Given the description of an element on the screen output the (x, y) to click on. 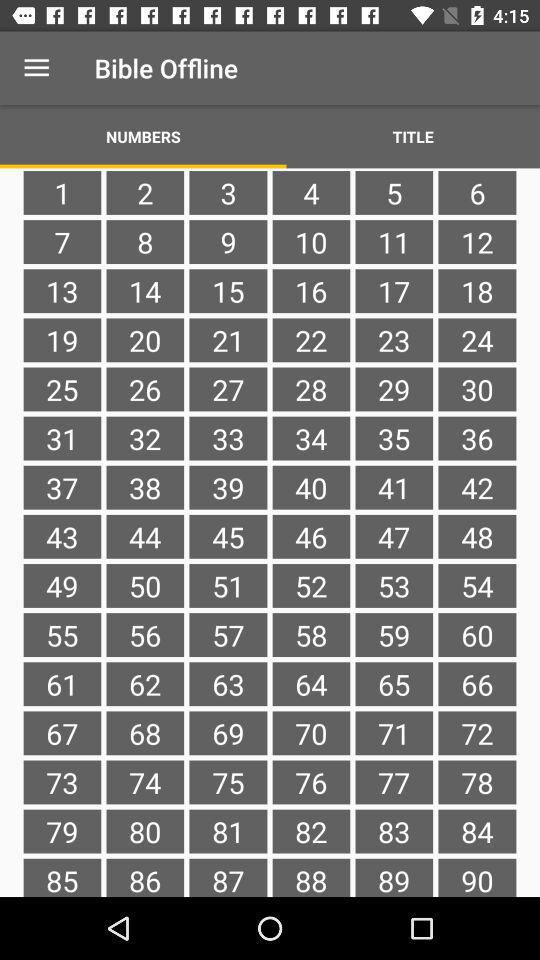
launch item to the left of 42 icon (394, 536)
